Given the description of an element on the screen output the (x, y) to click on. 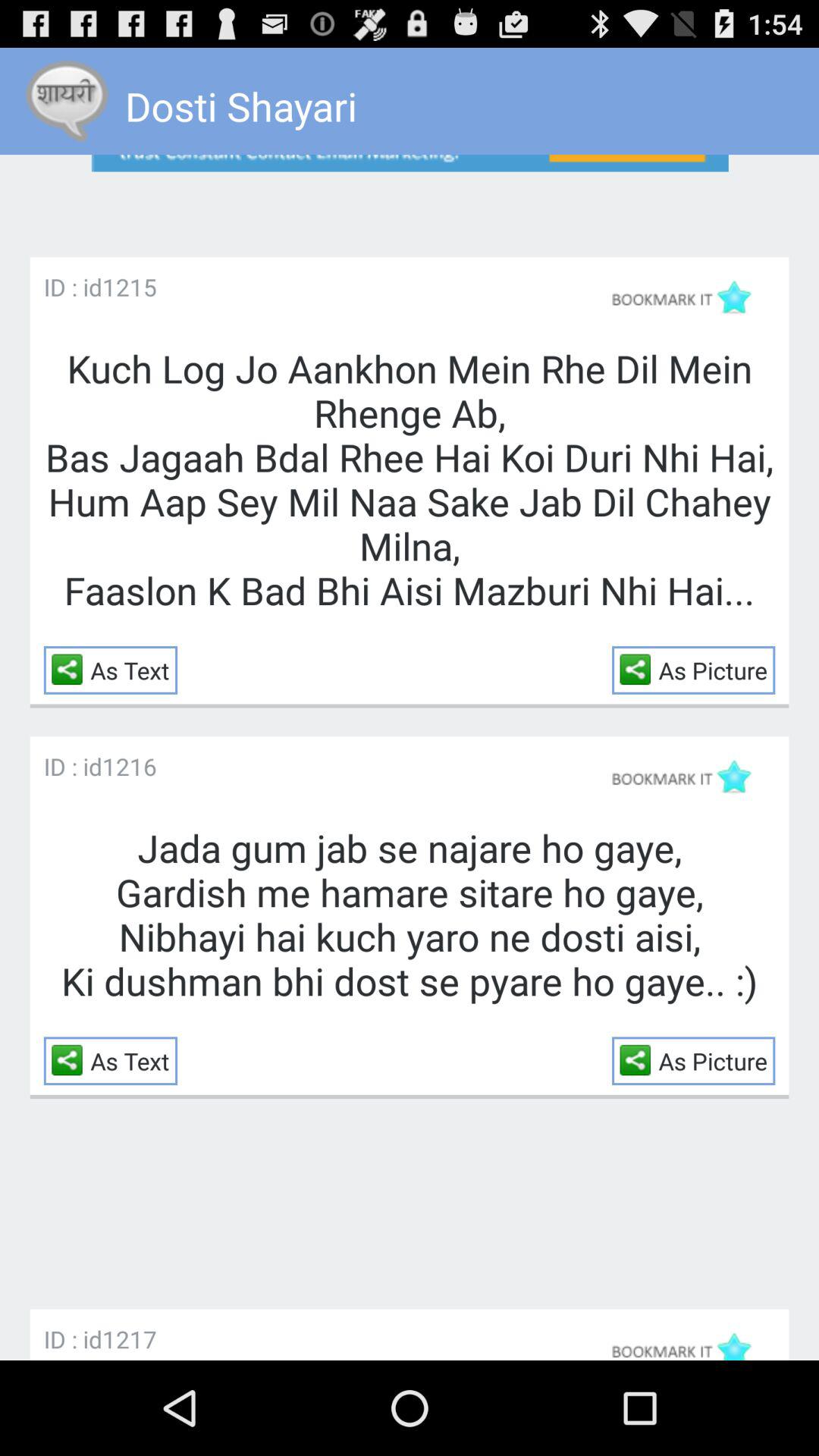
select the icon above kuch log jo (129, 286)
